Given the description of an element on the screen output the (x, y) to click on. 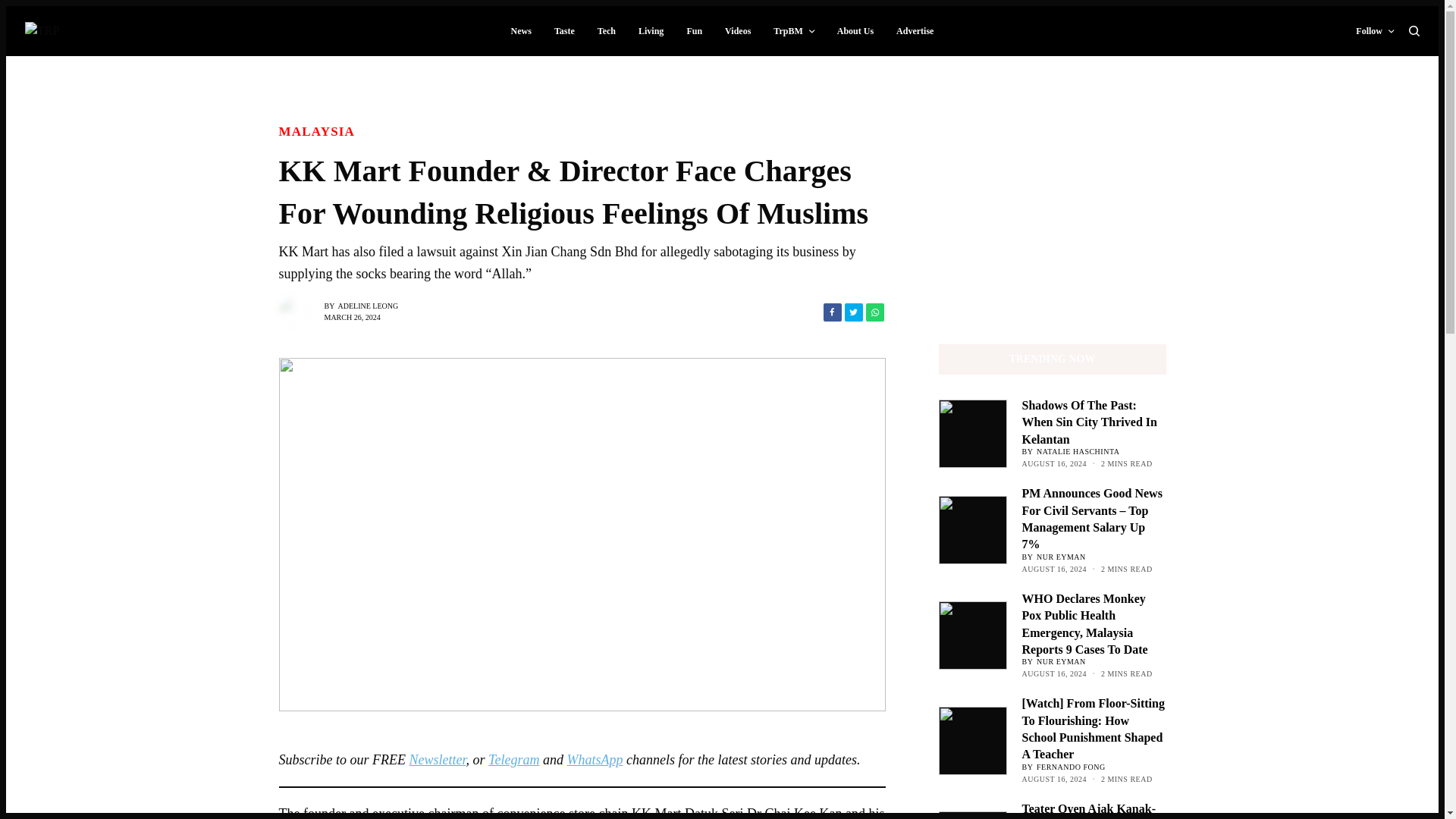
Shadows Of The Past: When Sin City Thrived In Kelantan (1094, 422)
ADELINE LEONG (367, 306)
Telegram (512, 759)
Posts by Nur Eyman (1061, 661)
Posts by Adeline Leong (367, 306)
TRP (41, 30)
Posts by Natalie Haschinta (1077, 451)
Posts by Nur Eyman (1061, 556)
Newsletter (437, 759)
